Given the description of an element on the screen output the (x, y) to click on. 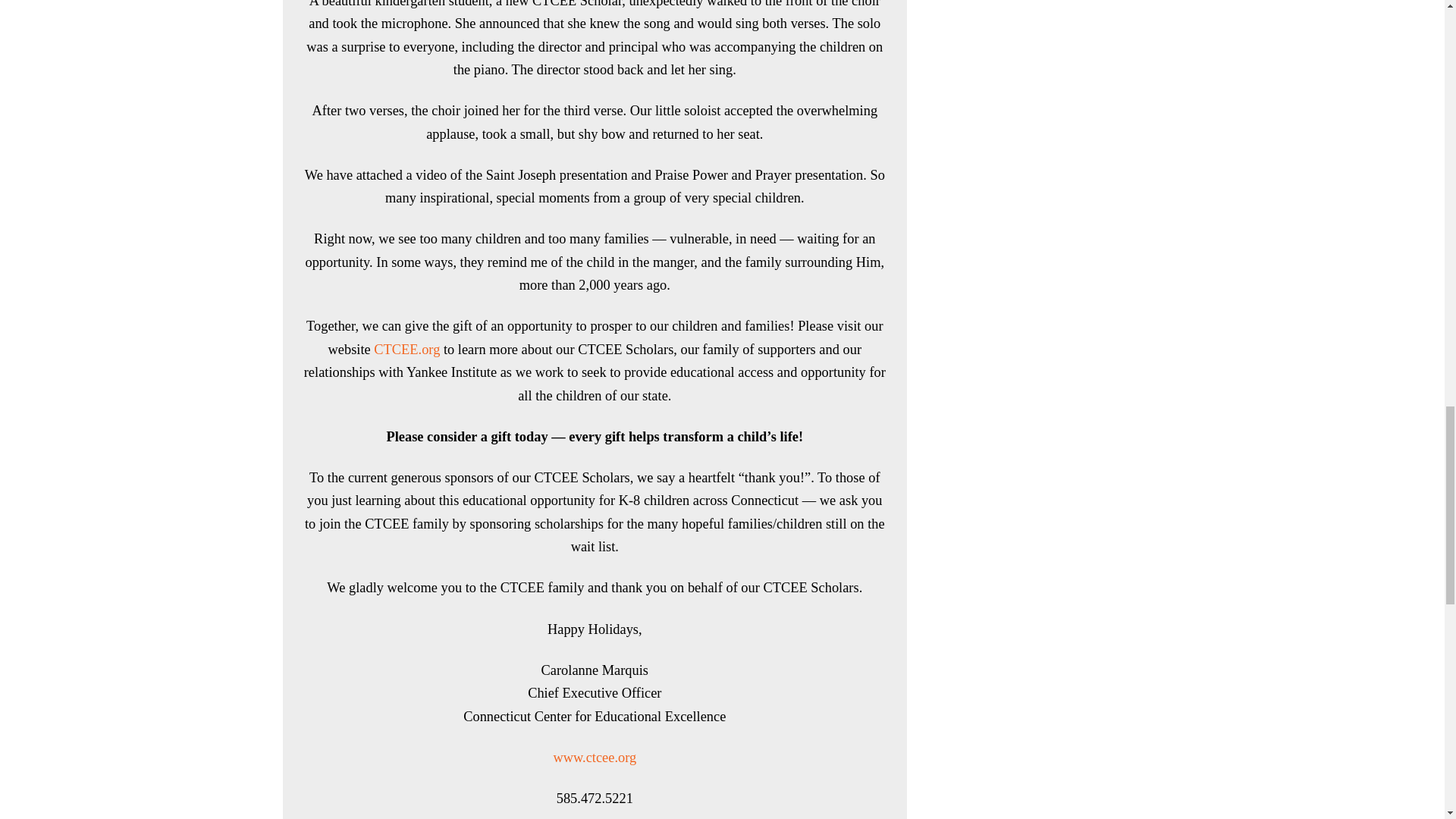
CTCEE.org (406, 349)
www.ctcee.org (594, 757)
